Given the description of an element on the screen output the (x, y) to click on. 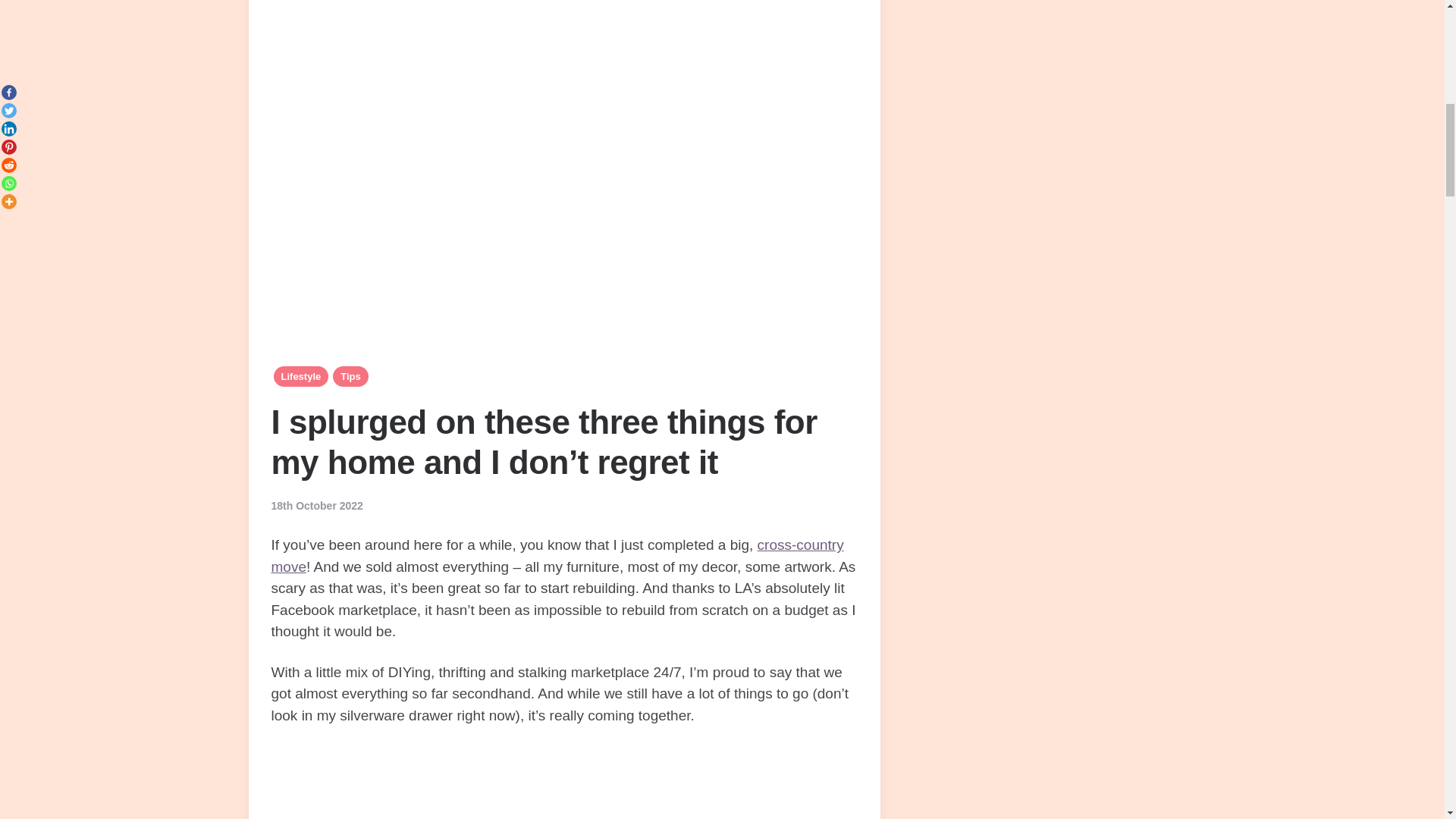
Tips (350, 376)
Advertisement (563, 782)
Lifestyle (301, 376)
